Given the description of an element on the screen output the (x, y) to click on. 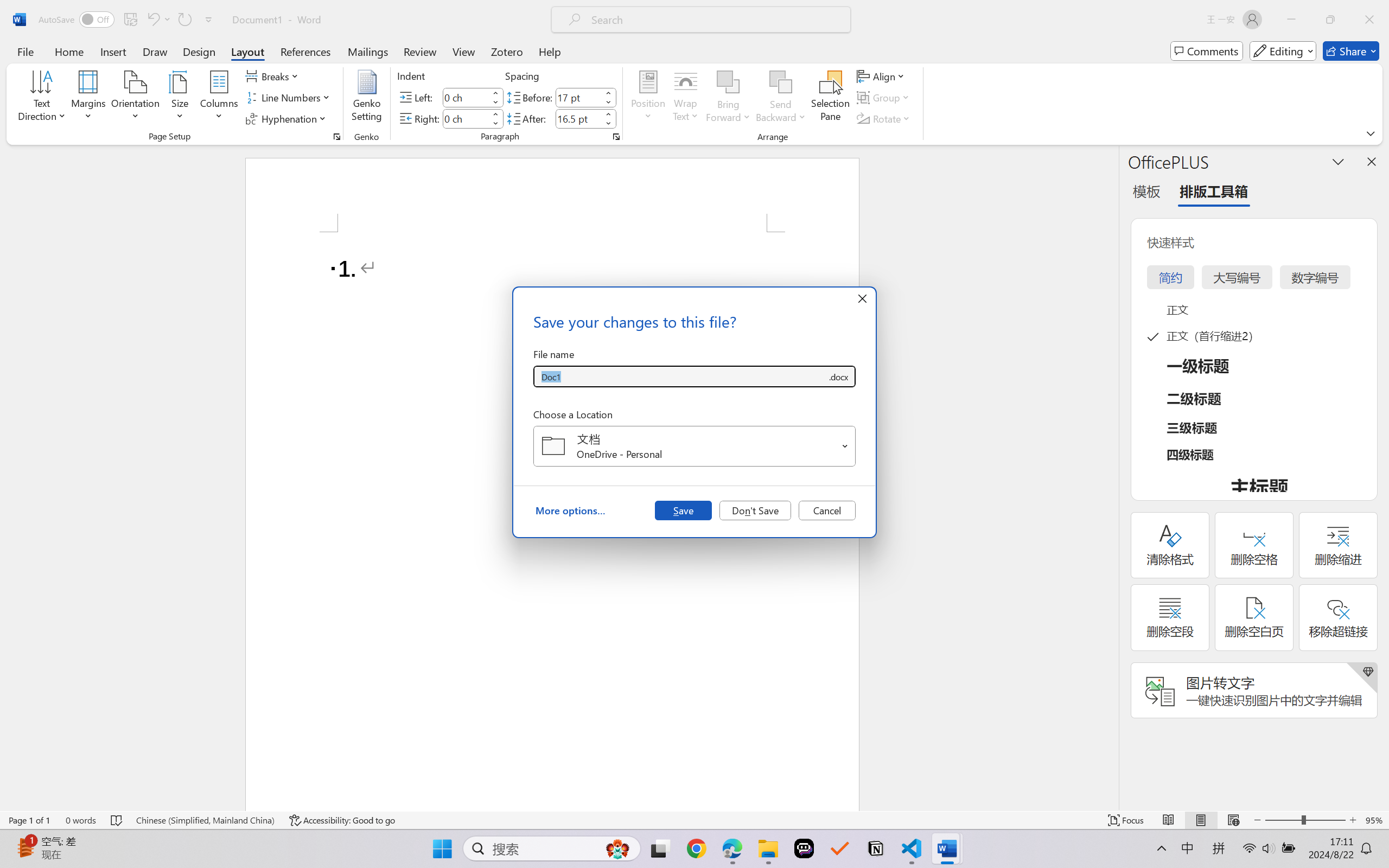
Genko Setting... (367, 97)
Repeat Doc Close (184, 19)
Cancel (826, 509)
Orientation (135, 97)
Less (608, 123)
Bring Forward (728, 97)
Page Setup... (336, 136)
